Given the description of an element on the screen output the (x, y) to click on. 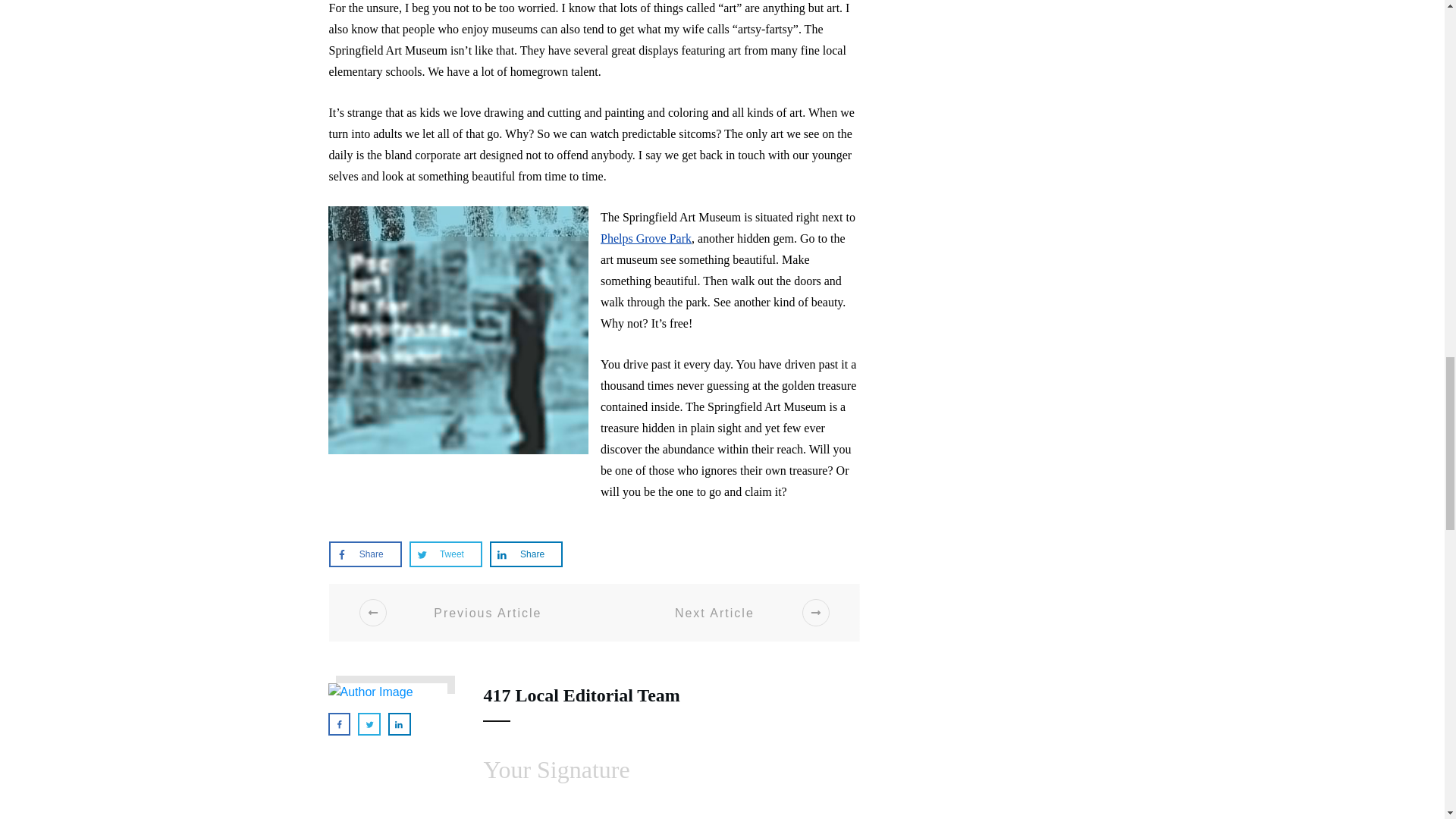
Pop Art is for everyone (457, 329)
Phelps Grove Park (645, 237)
Share (365, 553)
Next Article (733, 612)
Previous Article (468, 612)
Share (526, 553)
Tweet (445, 553)
